Given the description of an element on the screen output the (x, y) to click on. 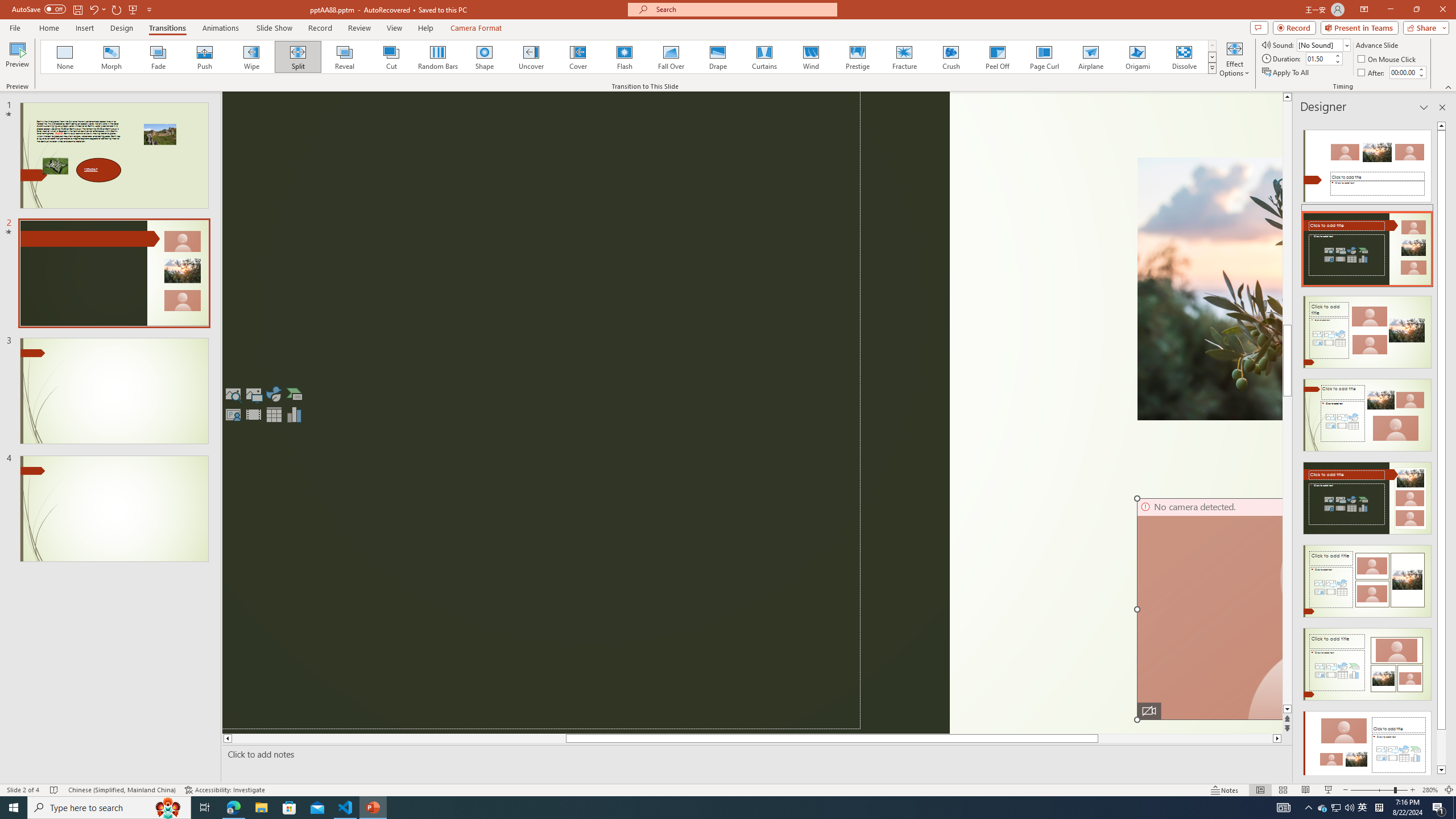
Recommended Design: Design Idea (1366, 162)
Drape (717, 56)
Transition Effects (1212, 67)
Curtains (764, 56)
Slide Notes (754, 754)
Close up of an olive branch on a sunset (1209, 288)
Prestige (857, 56)
Apply To All (1286, 72)
Close pane (1441, 107)
Cut (391, 56)
